Given the description of an element on the screen output the (x, y) to click on. 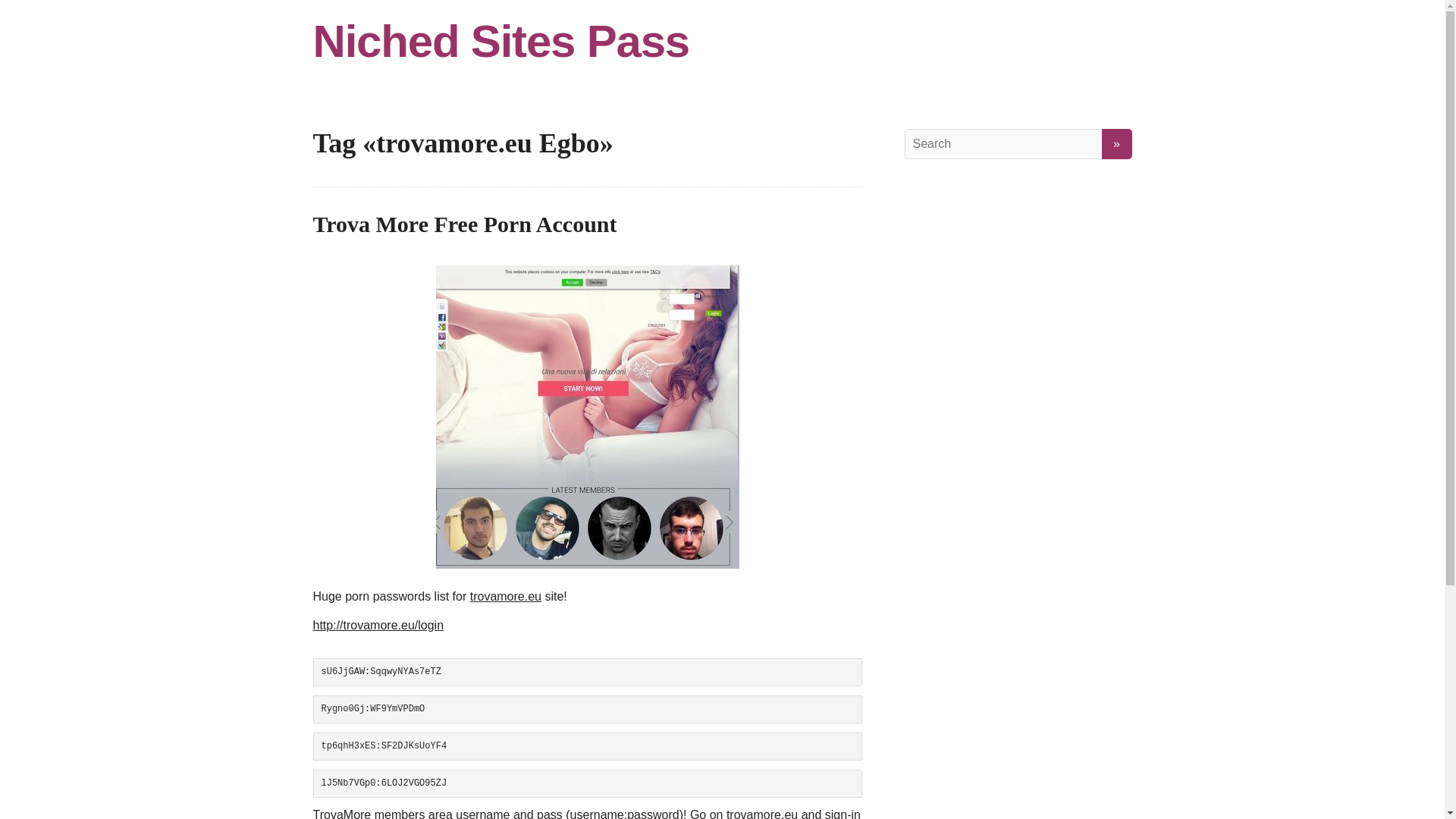
Niched Sites Pass (722, 41)
Trova More Free Porn Account (464, 223)
Trova More (587, 416)
trovamore.eu (505, 595)
Trova More Free Porn Account (464, 223)
trovamore.eu (761, 813)
Niched Sites Pass (722, 41)
